Given the description of an element on the screen output the (x, y) to click on. 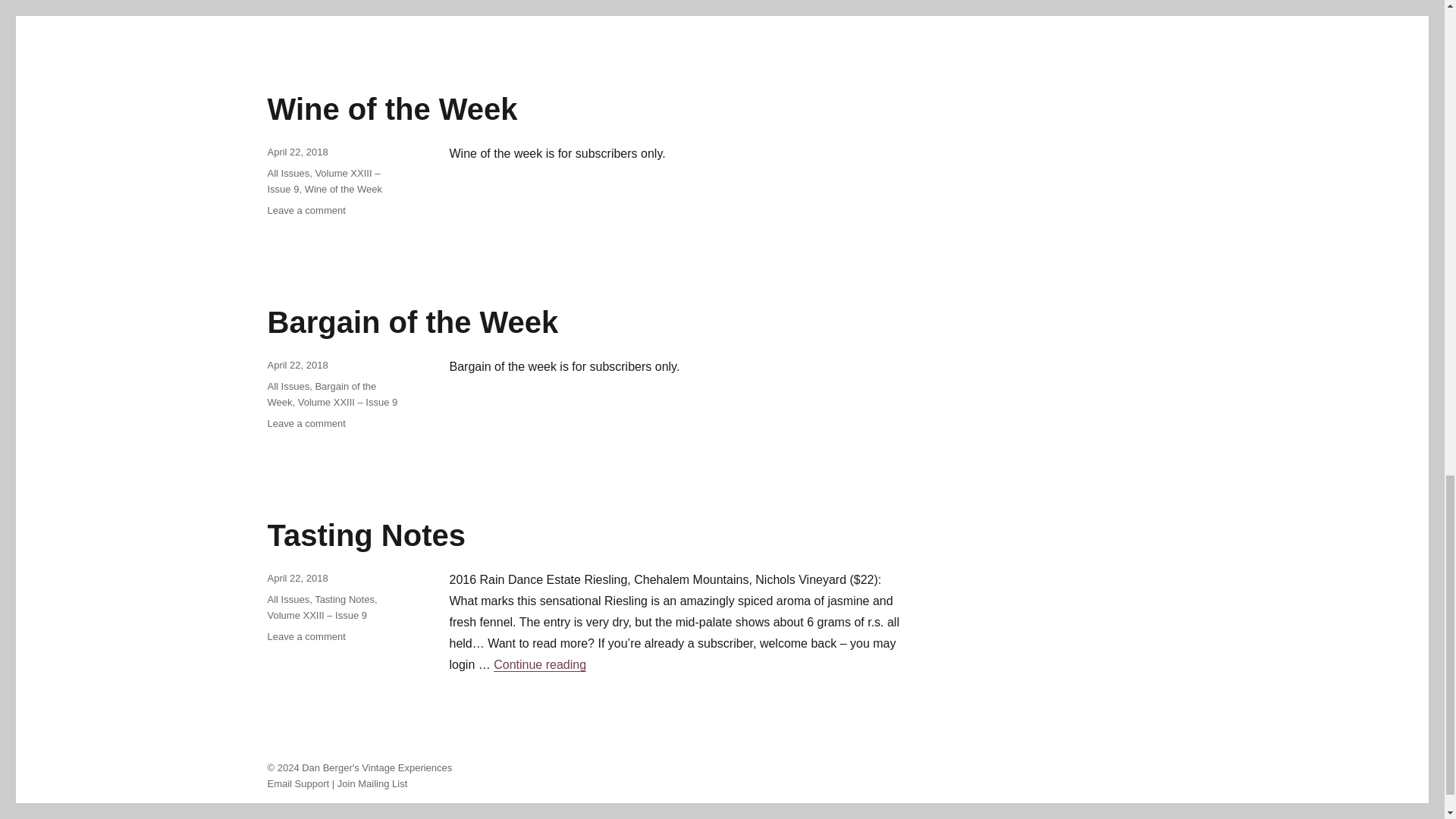
Wine of the Week (391, 109)
